Given the description of an element on the screen output the (x, y) to click on. 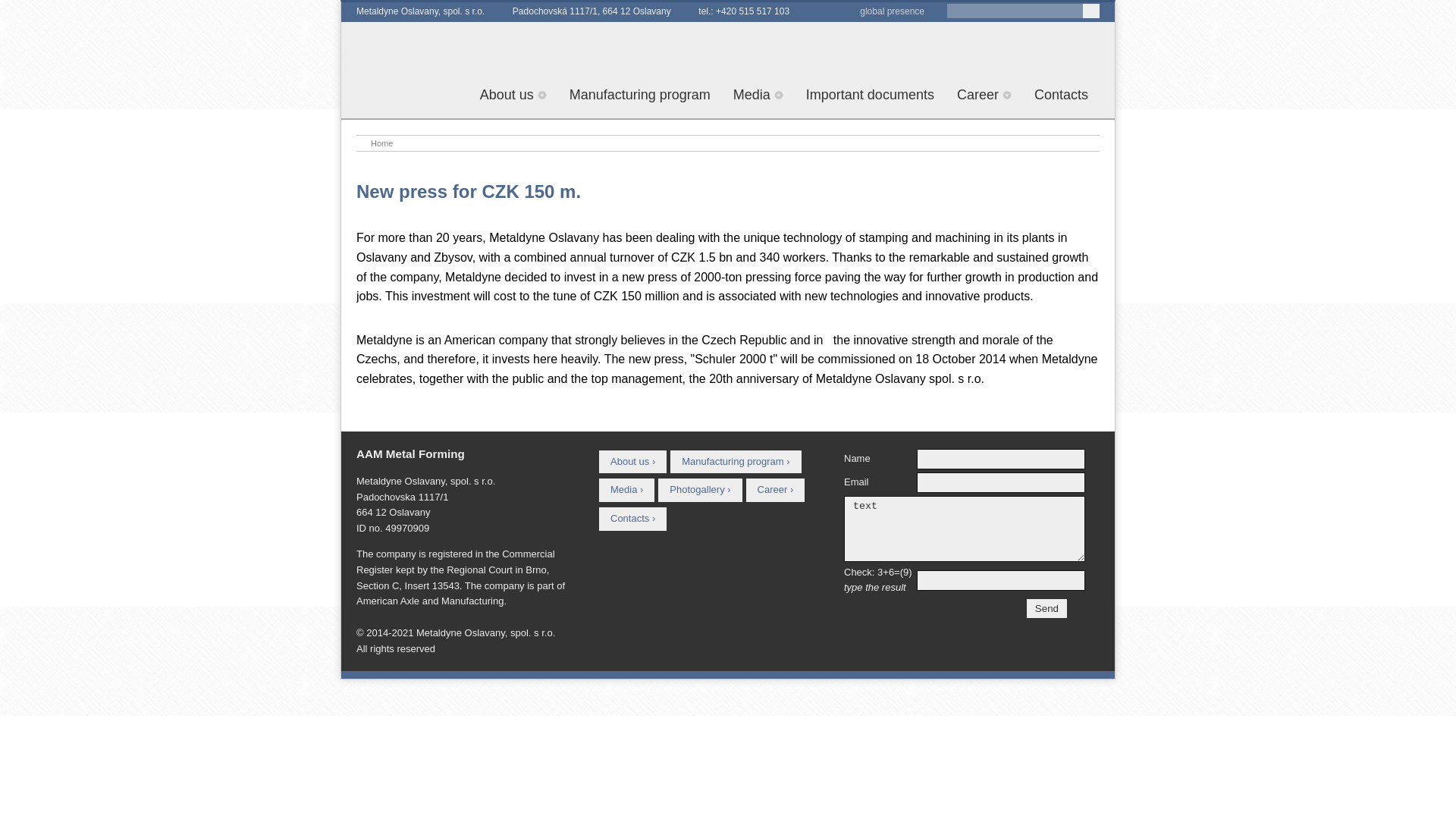
Media (758, 94)
About us (512, 94)
Manufacturing program (639, 94)
Contacts (1061, 94)
Send (1046, 608)
global presence (892, 10)
Career (983, 94)
Home (385, 142)
Send (1046, 608)
Important documents (869, 94)
